Given the description of an element on the screen output the (x, y) to click on. 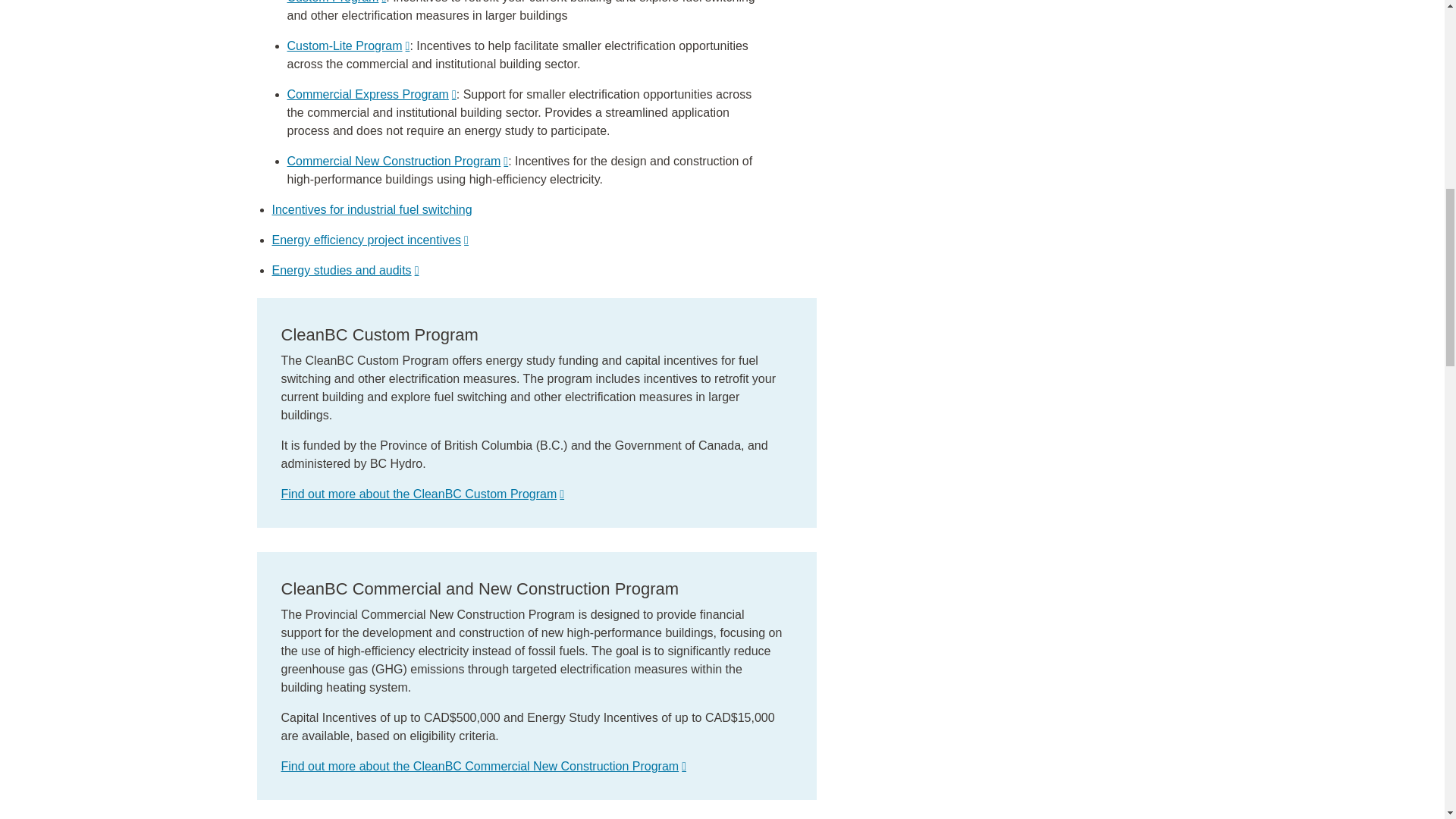
Low carbon electrification (370, 209)
